Given the description of an element on the screen output the (x, y) to click on. 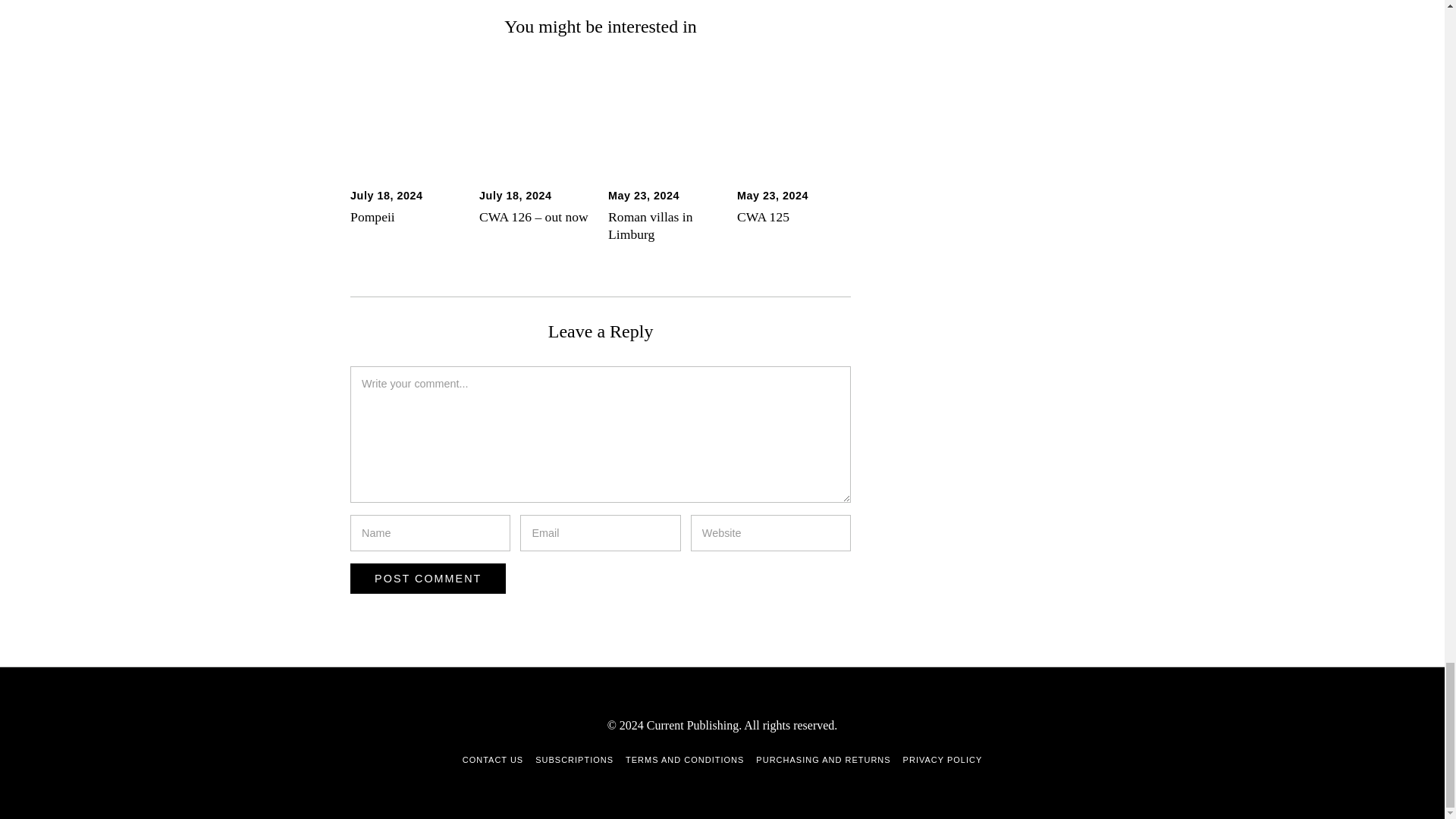
Post Comment (427, 578)
